Given the description of an element on the screen output the (x, y) to click on. 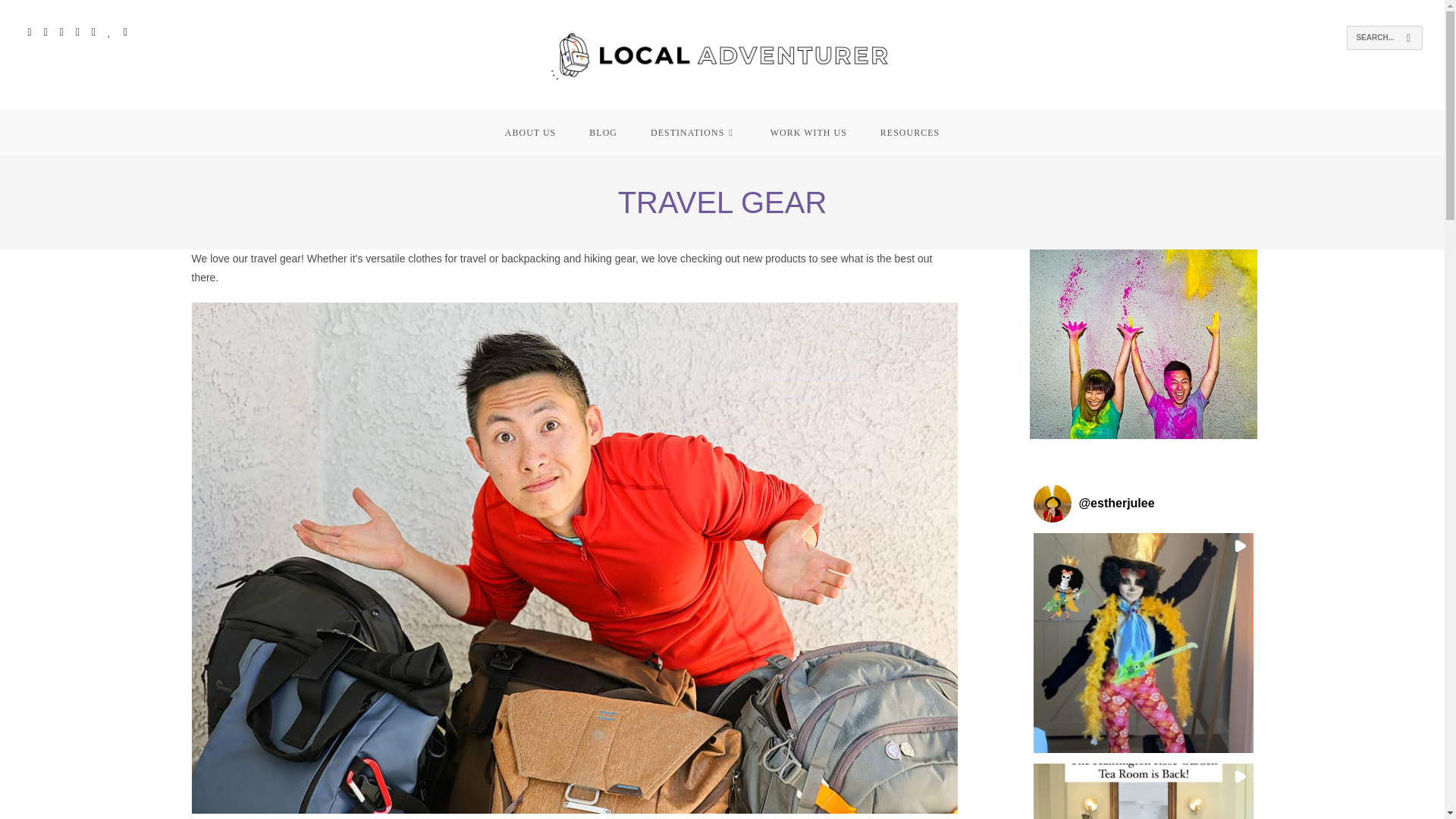
RESOURCES (909, 132)
BLOG (602, 132)
WORK WITH US (808, 132)
DESTINATIONS (693, 132)
ABOUT US (529, 132)
